Given the description of an element on the screen output the (x, y) to click on. 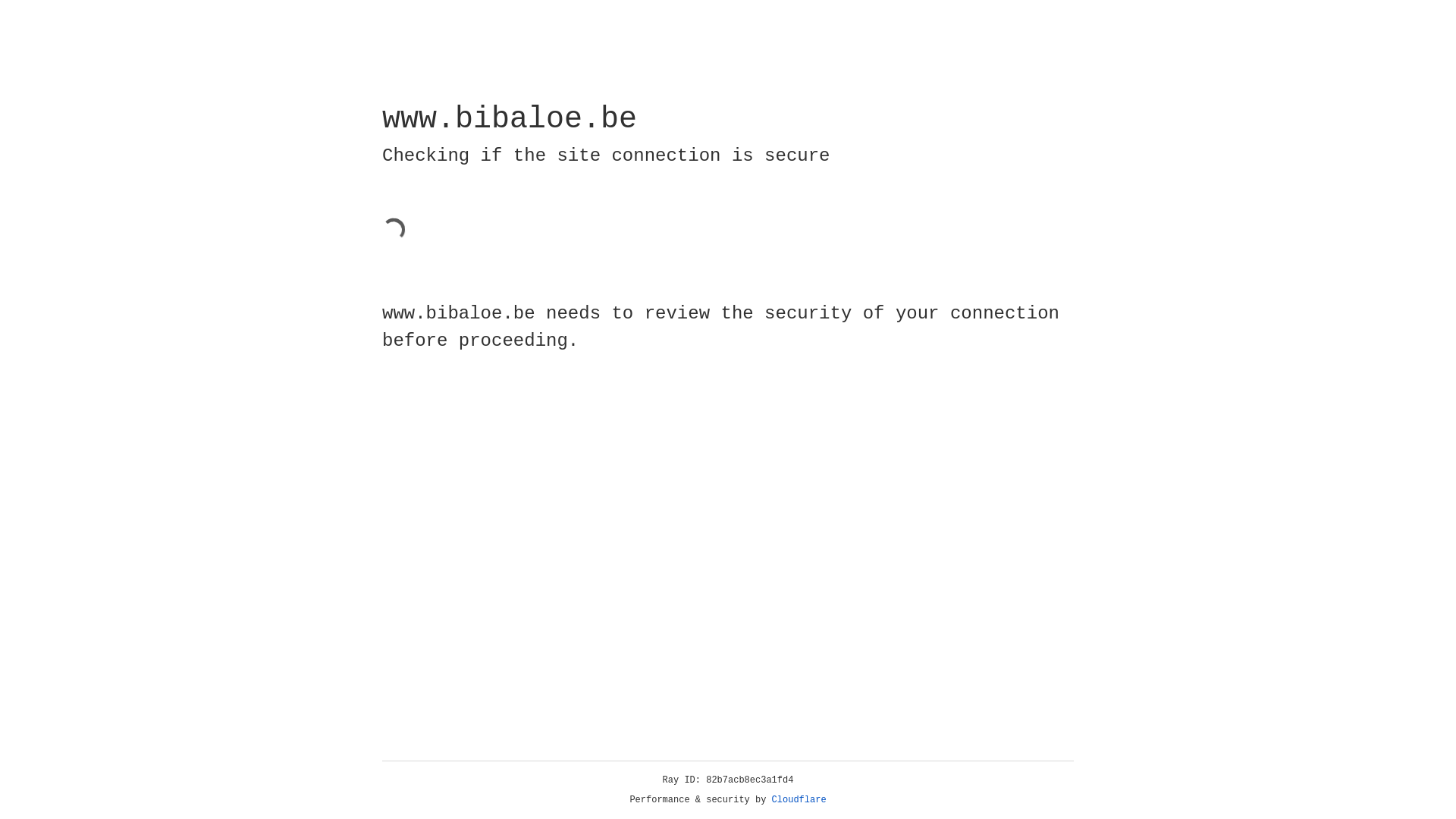
Cloudflare Element type: text (798, 799)
